Given the description of an element on the screen output the (x, y) to click on. 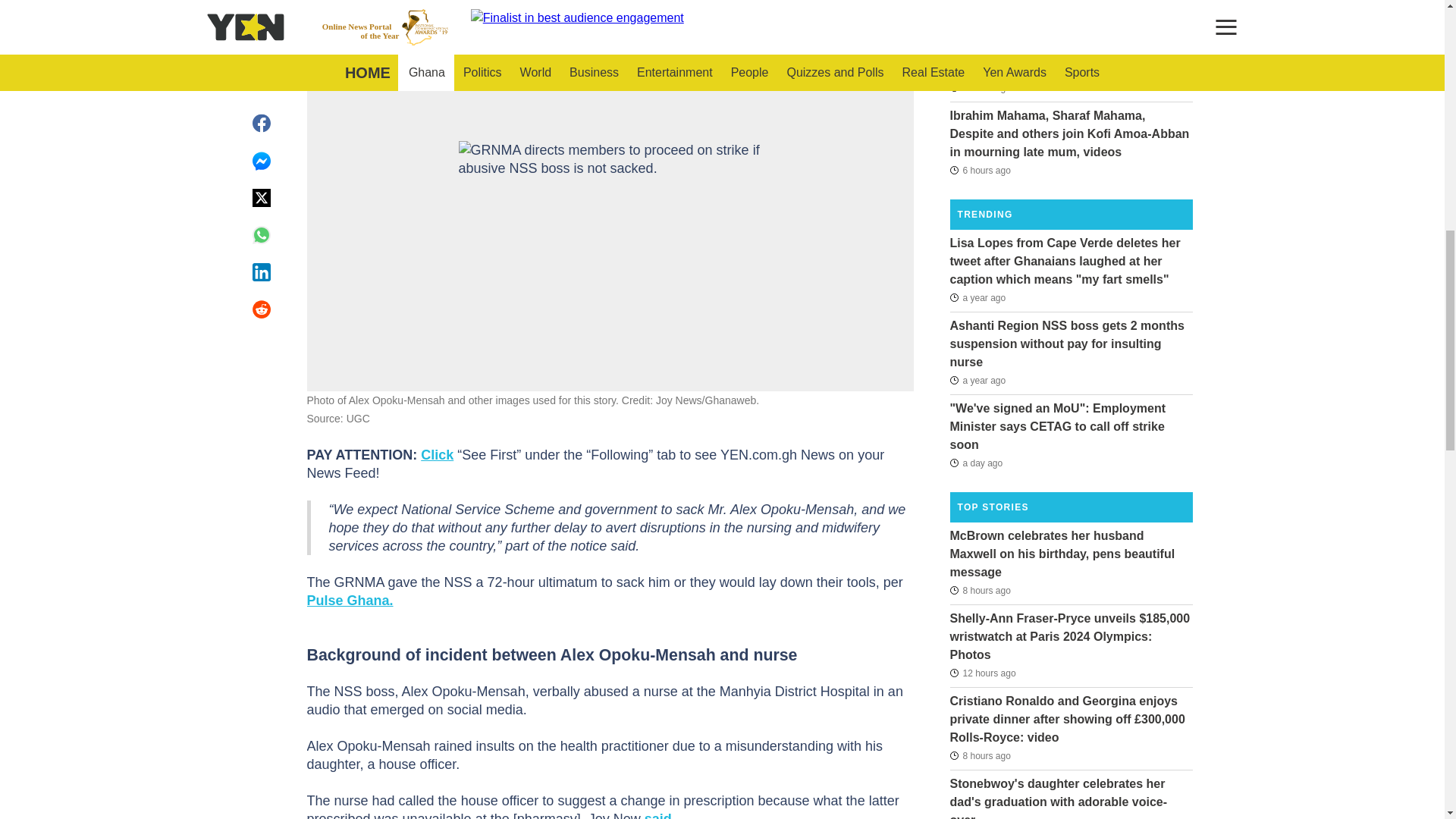
2023-07-11T15:25:21Z (977, 297)
2024-08-03T14:51:37Z (981, 673)
2024-08-03T22:30:03Z (979, 22)
2023-01-04T15:40:22Z (977, 380)
2024-08-02T18:41:04Z (976, 462)
2024-08-03T21:07:29Z (979, 169)
2024-08-03T18:42:47Z (979, 755)
Expand image (895, 68)
2024-08-03T18:43:11Z (979, 589)
